Given the description of an element on the screen output the (x, y) to click on. 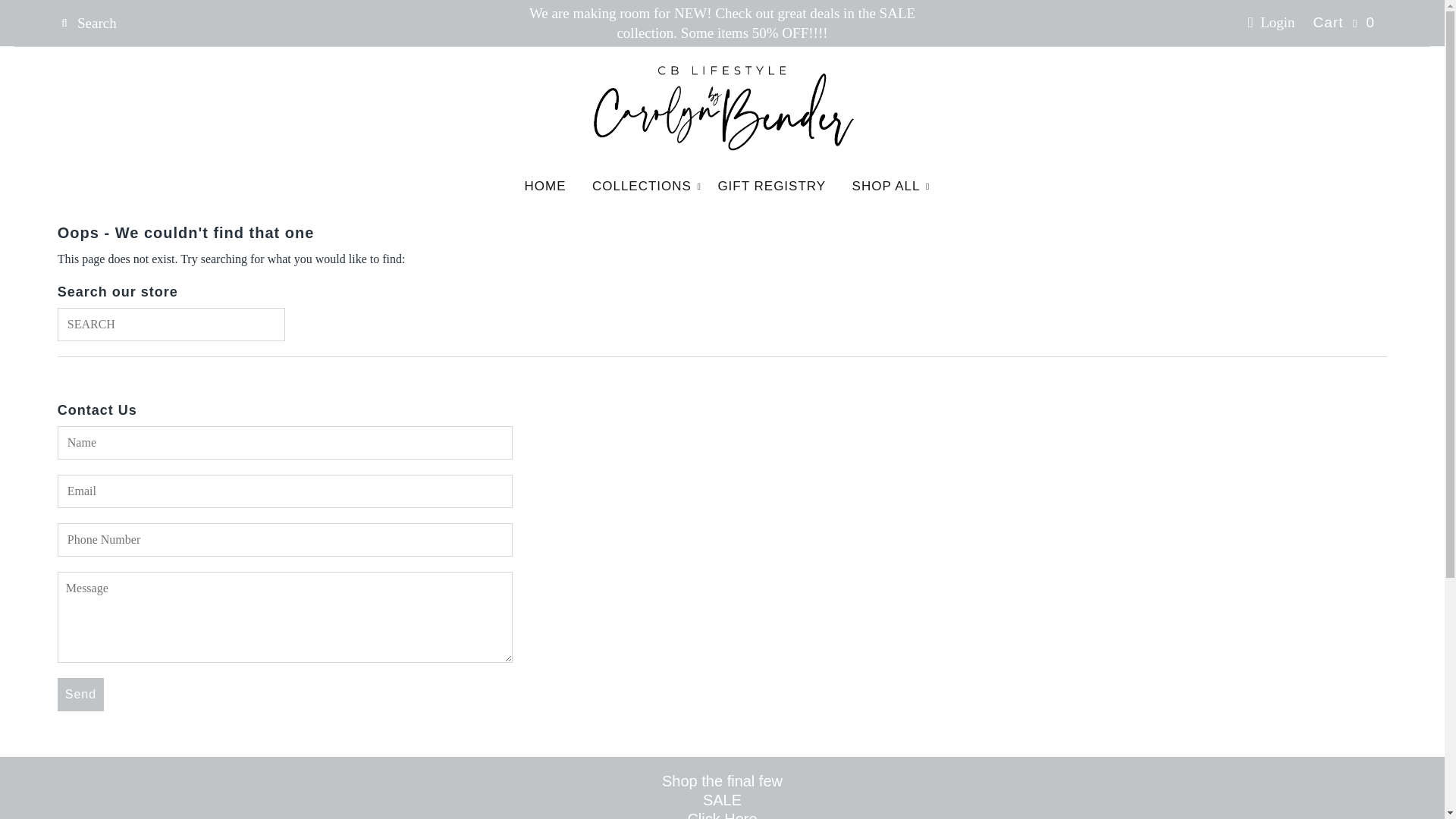
  Login (1271, 22)
Send (80, 694)
HOME (544, 186)
Fall Preview (722, 814)
Cart    0 (1343, 22)
COLLECTIONS (641, 186)
